Given the description of an element on the screen output the (x, y) to click on. 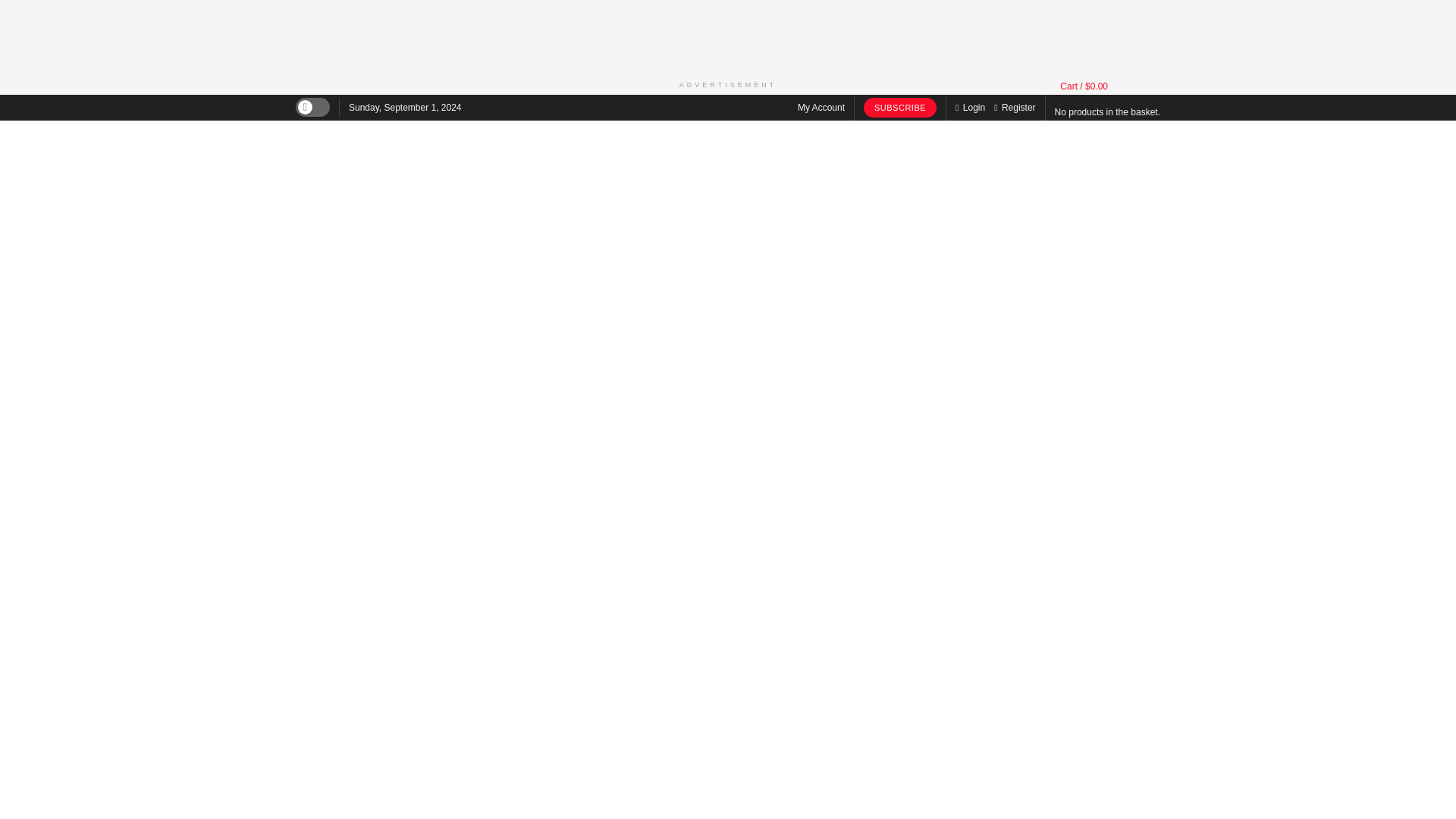
My Account (820, 107)
Register (1014, 107)
View your shopping cart (1083, 86)
Login (970, 107)
SUBSCRIBE (899, 107)
